Given the description of an element on the screen output the (x, y) to click on. 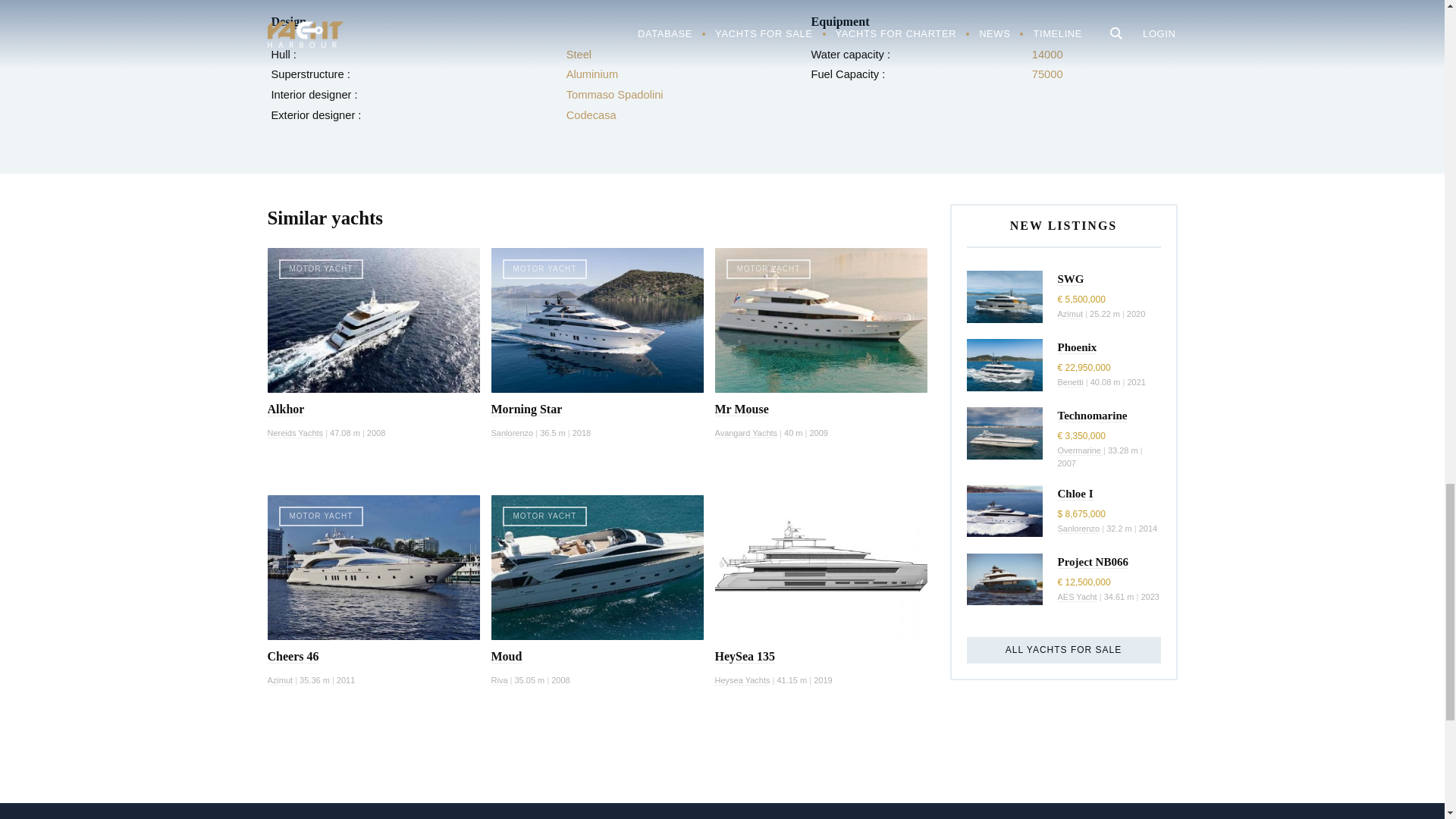
Morning Star (527, 409)
Nereids Yachts (294, 433)
Alkhor (285, 409)
Mr Mouse (741, 409)
Sanlorenzo (513, 433)
